Given the description of an element on the screen output the (x, y) to click on. 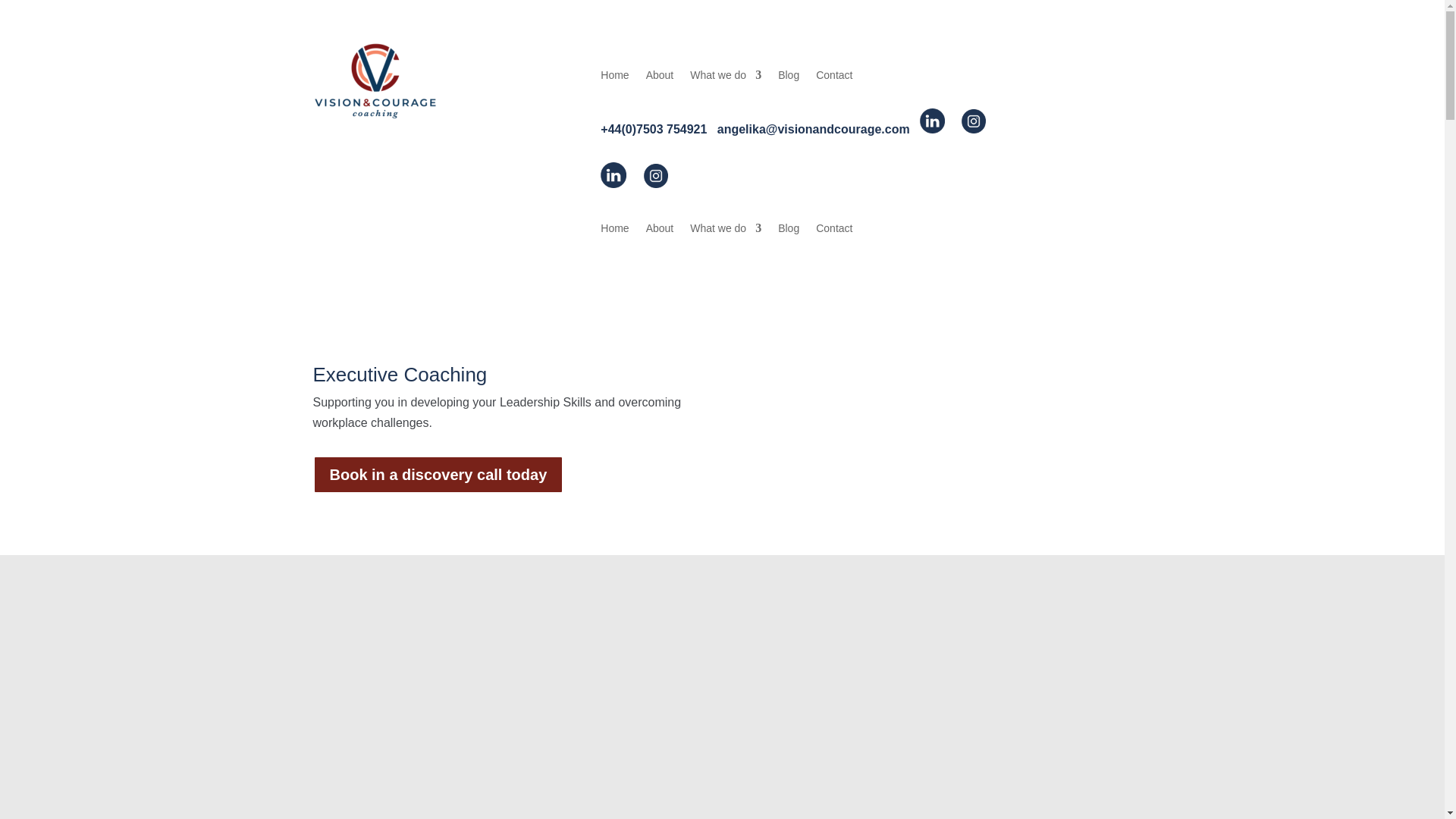
About (660, 230)
Home (613, 77)
Home (613, 230)
Contact (833, 77)
About (660, 77)
Blog (788, 77)
Contact (833, 230)
What we do (725, 230)
Blog (788, 230)
Book in a discovery call today (438, 474)
